Given the description of an element on the screen output the (x, y) to click on. 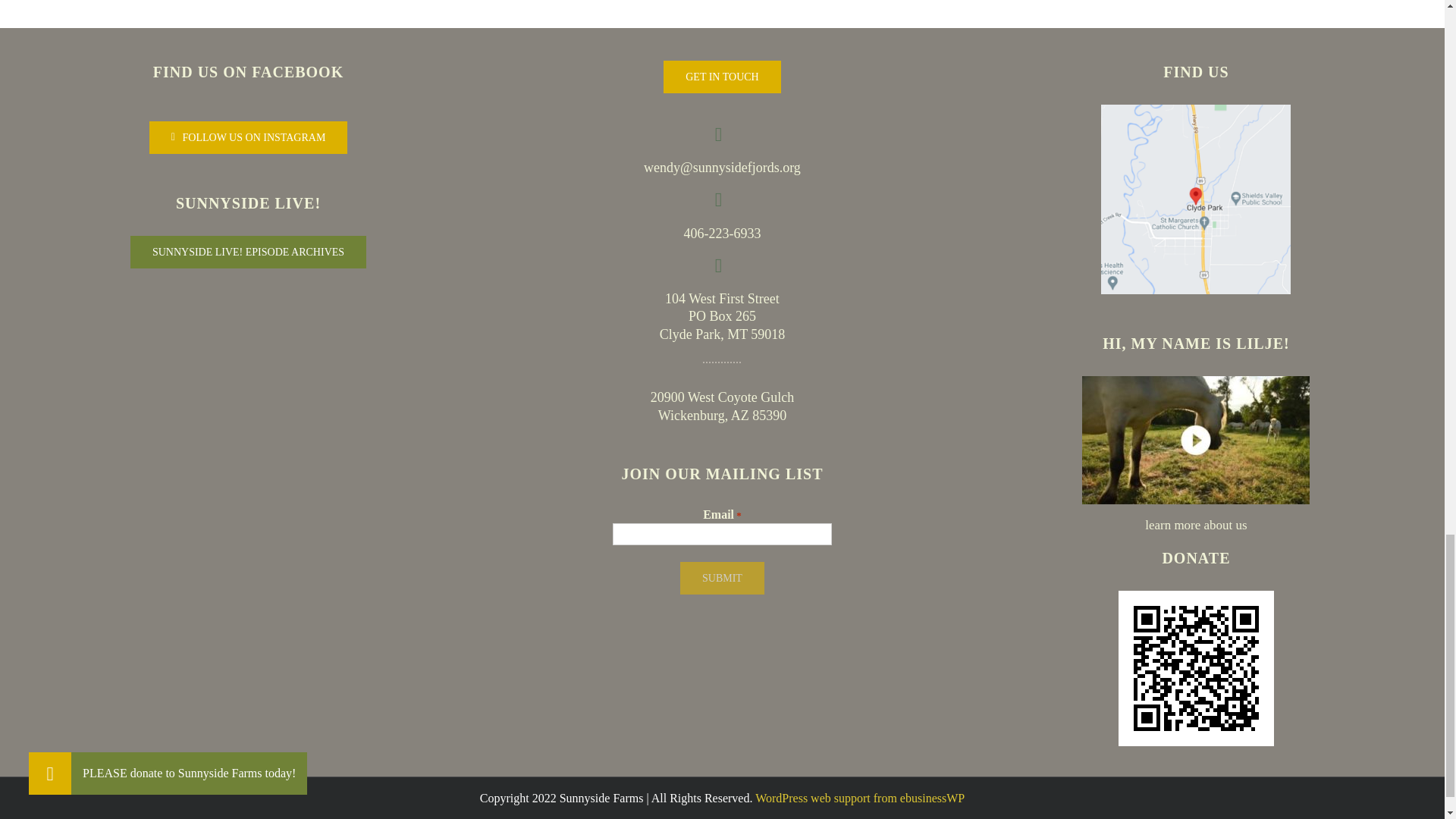
Submit (721, 577)
Hi, My Name is Lilje! (1194, 439)
Find Us (1195, 199)
